Given the description of an element on the screen output the (x, y) to click on. 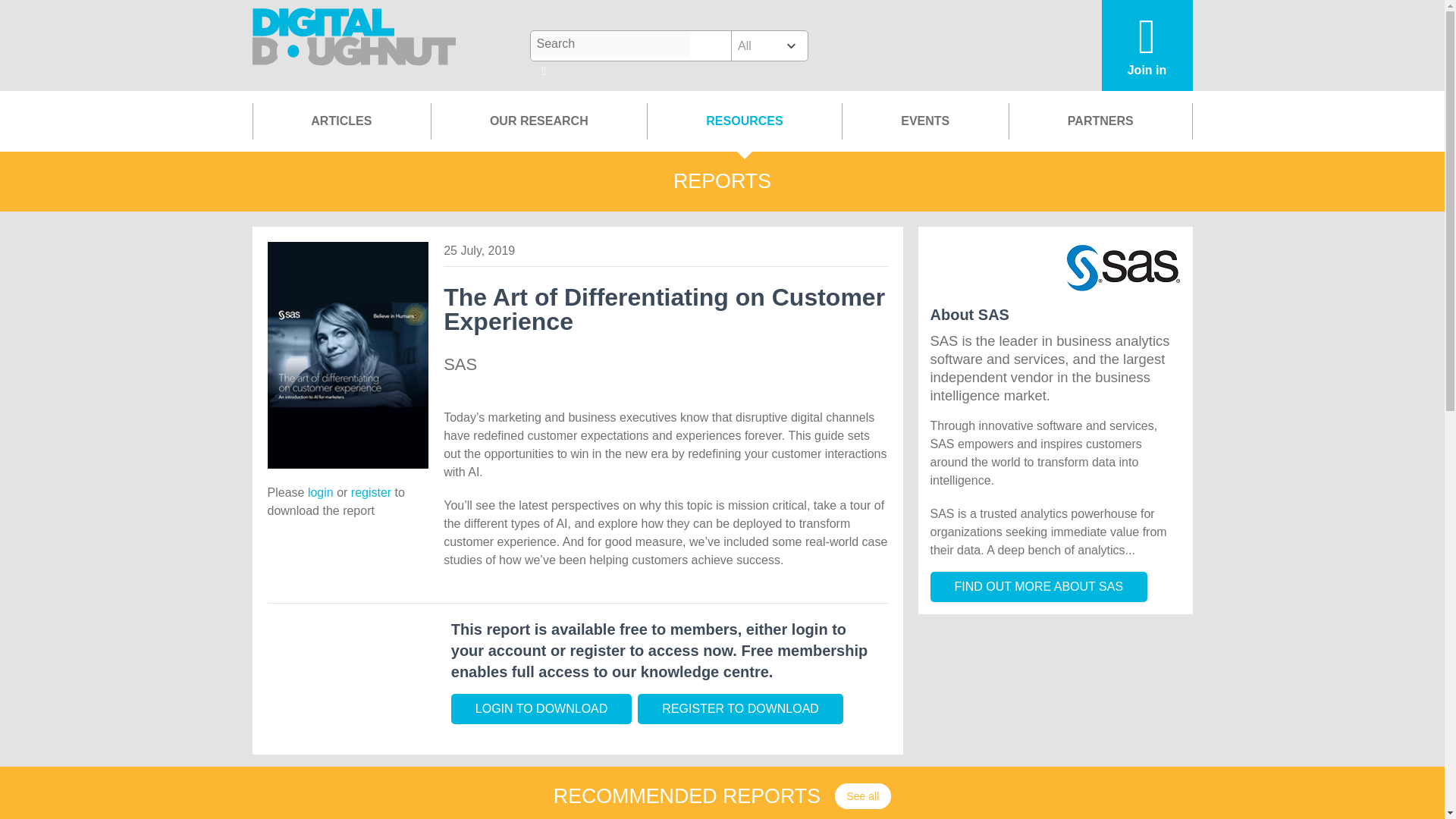
OUR RESEARCH (538, 120)
See all (862, 795)
RESOURCES (743, 120)
Digital Doughnut (354, 45)
Join in (1146, 45)
FIND OUT MORE ABOUT SAS (1038, 586)
PARTNERS (1100, 120)
Go (544, 71)
login (320, 492)
LOGIN TO DOWNLOAD (541, 708)
